Given the description of an element on the screen output the (x, y) to click on. 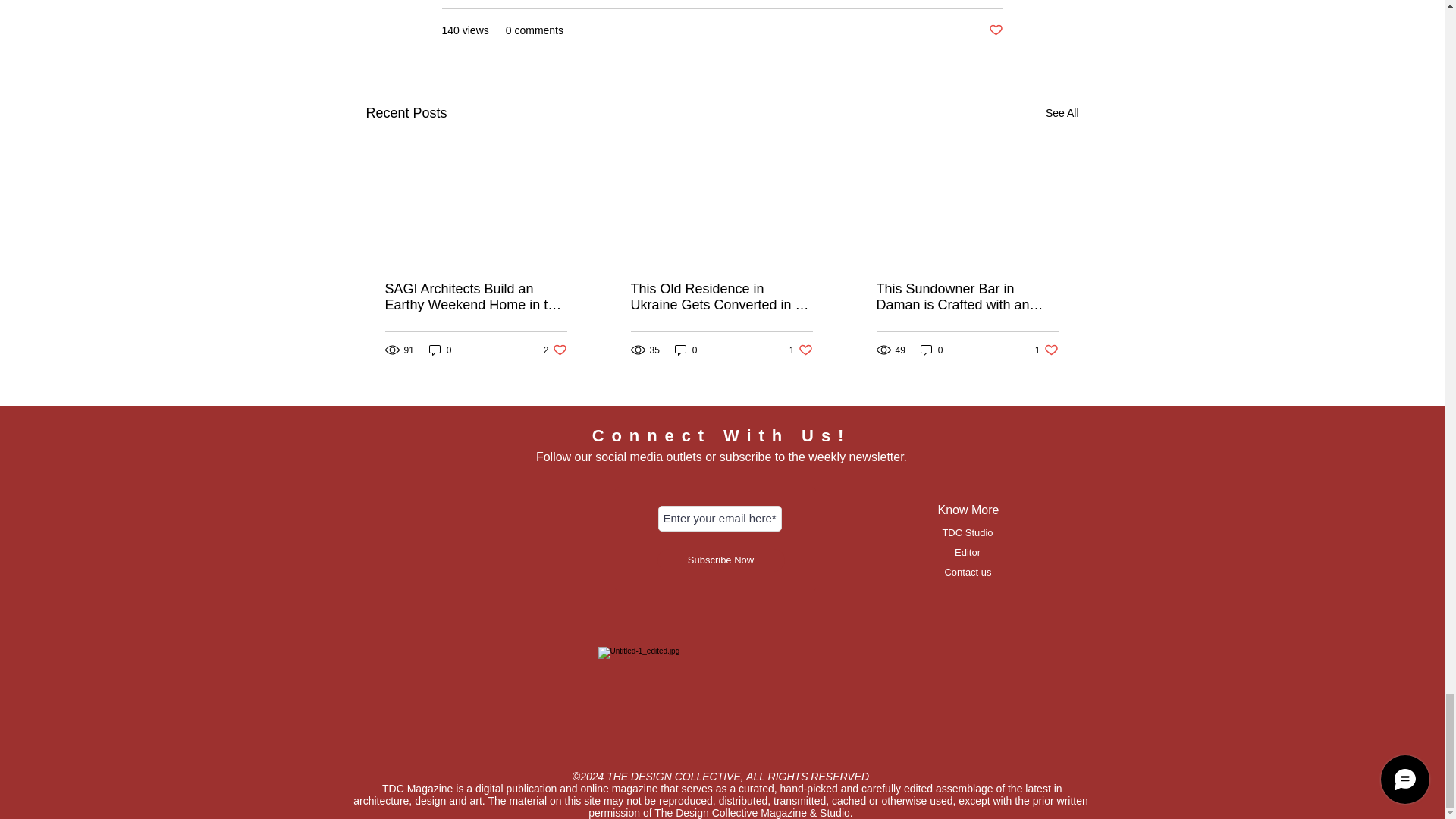
0 (440, 350)
Post not marked as liked (555, 350)
See All (995, 30)
0 (1061, 113)
